Given the description of an element on the screen output the (x, y) to click on. 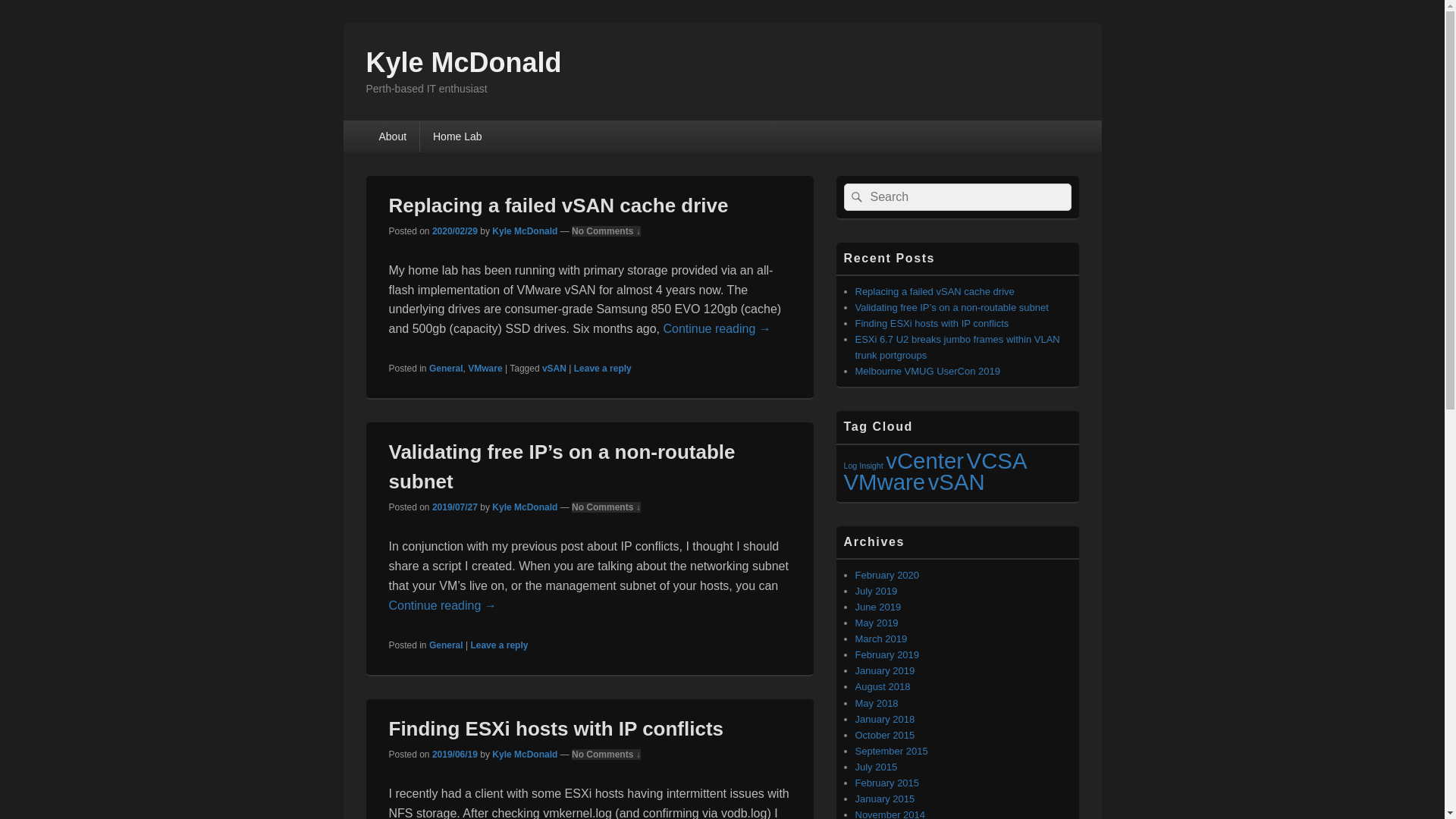
February 2015 Element type: text (887, 782)
Finding ESXi hosts with IP conflicts Element type: text (555, 728)
January 2015 Element type: text (885, 798)
September 2015 Element type: text (891, 750)
Melbourne VMUG UserCon 2019 Element type: text (927, 370)
2019/07/27 Element type: text (454, 507)
About Element type: text (392, 136)
Replacing a failed vSAN cache drive Element type: text (934, 291)
2020/02/29 Element type: text (454, 230)
2019/06/19 Element type: text (454, 754)
vSAN Element type: text (956, 481)
General Element type: text (446, 368)
Kyle McDonald Element type: text (524, 507)
VCSA Element type: text (996, 460)
June 2019 Element type: text (878, 606)
February 2019 Element type: text (887, 654)
March 2019 Element type: text (881, 638)
vCenter Element type: text (924, 460)
Replacing a failed vSAN cache drive Element type: text (558, 205)
VMware Element type: text (884, 481)
February 2020 Element type: text (887, 574)
Kyle McDonald Element type: text (463, 62)
January 2018 Element type: text (885, 718)
January 2019 Element type: text (885, 670)
Finding ESXi hosts with IP conflicts Element type: text (932, 323)
May 2018 Element type: text (876, 703)
ESXi 6.7 U2 breaks jumbo frames within VLAN trunk portgroups Element type: text (957, 346)
Leave a reply Element type: text (498, 645)
Log Insight Element type: text (862, 465)
Search for: Element type: hover (956, 196)
Home Lab Element type: text (457, 136)
May 2019 Element type: text (876, 622)
General Element type: text (446, 645)
July 2019 Element type: text (876, 590)
October 2015 Element type: text (885, 734)
July 2015 Element type: text (876, 766)
Leave a reply Element type: text (602, 368)
Kyle McDonald Element type: text (524, 230)
August 2018 Element type: text (882, 686)
vSAN Element type: text (554, 368)
VMware Element type: text (484, 368)
Kyle McDonald Element type: text (524, 754)
